Given the description of an element on the screen output the (x, y) to click on. 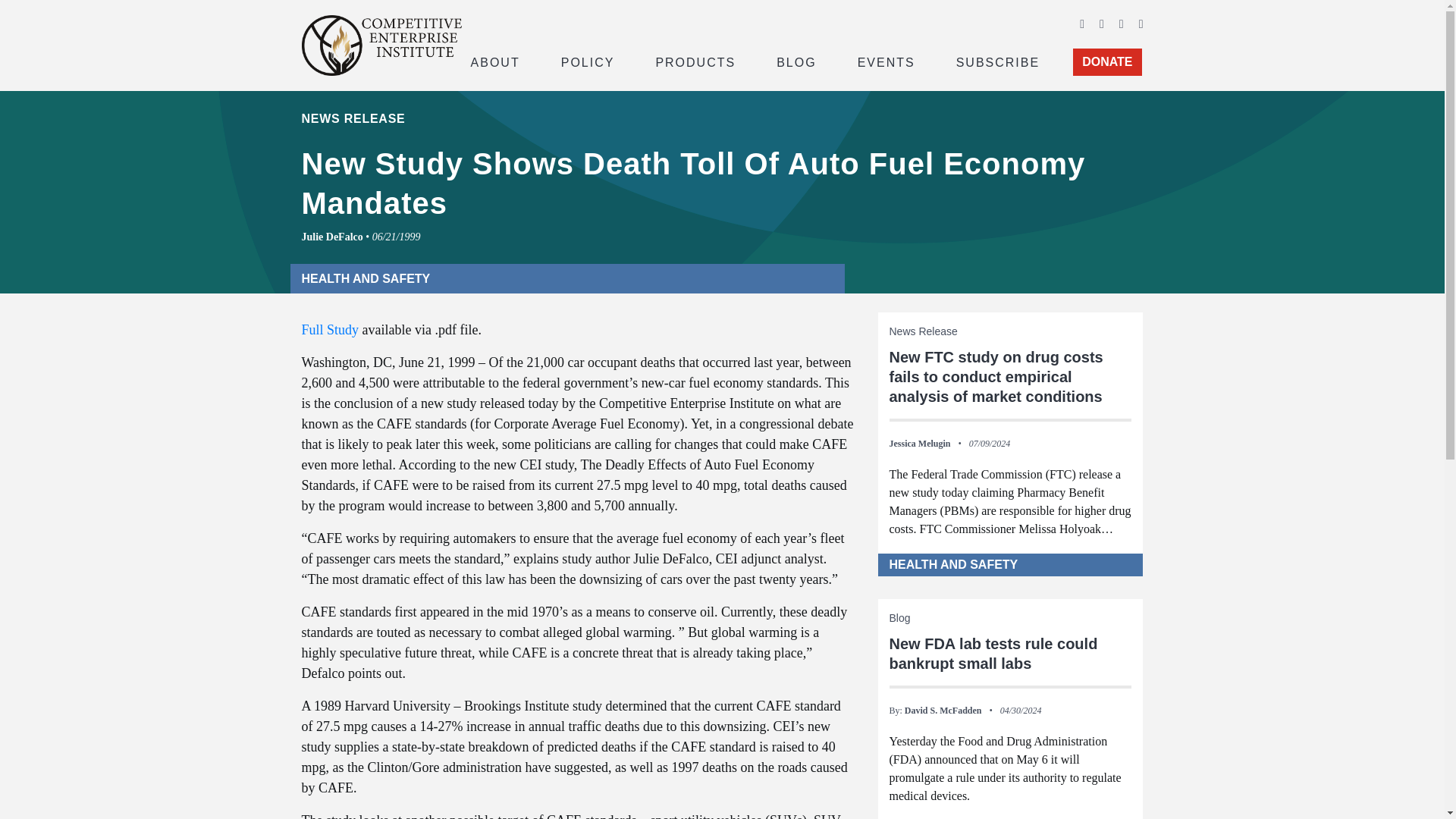
SUBSCRIBE (997, 61)
DONATE (1107, 62)
EVENTS (886, 61)
POLICY (588, 61)
ABOUT (495, 61)
PRODUCTS (694, 61)
BLOG (796, 61)
